Given the description of an element on the screen output the (x, y) to click on. 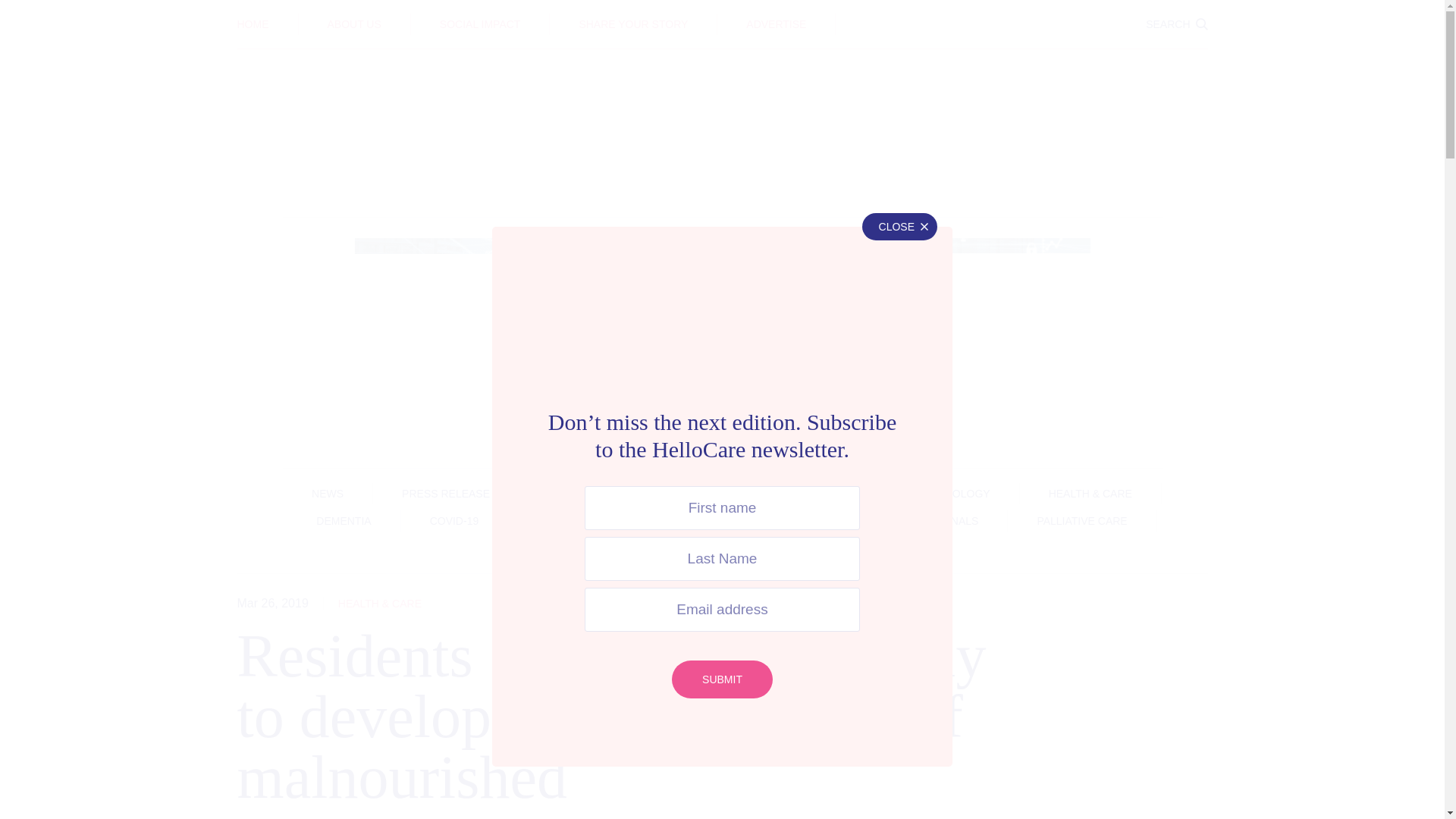
EDUCATION (721, 13)
SOCIAL IMPACT (480, 24)
Submit (722, 679)
SEARCH (1176, 24)
ADVERTISE (775, 24)
SHARE YOUR STORY (632, 24)
ABOUT US (354, 24)
HOME (251, 24)
